Given the description of an element on the screen output the (x, y) to click on. 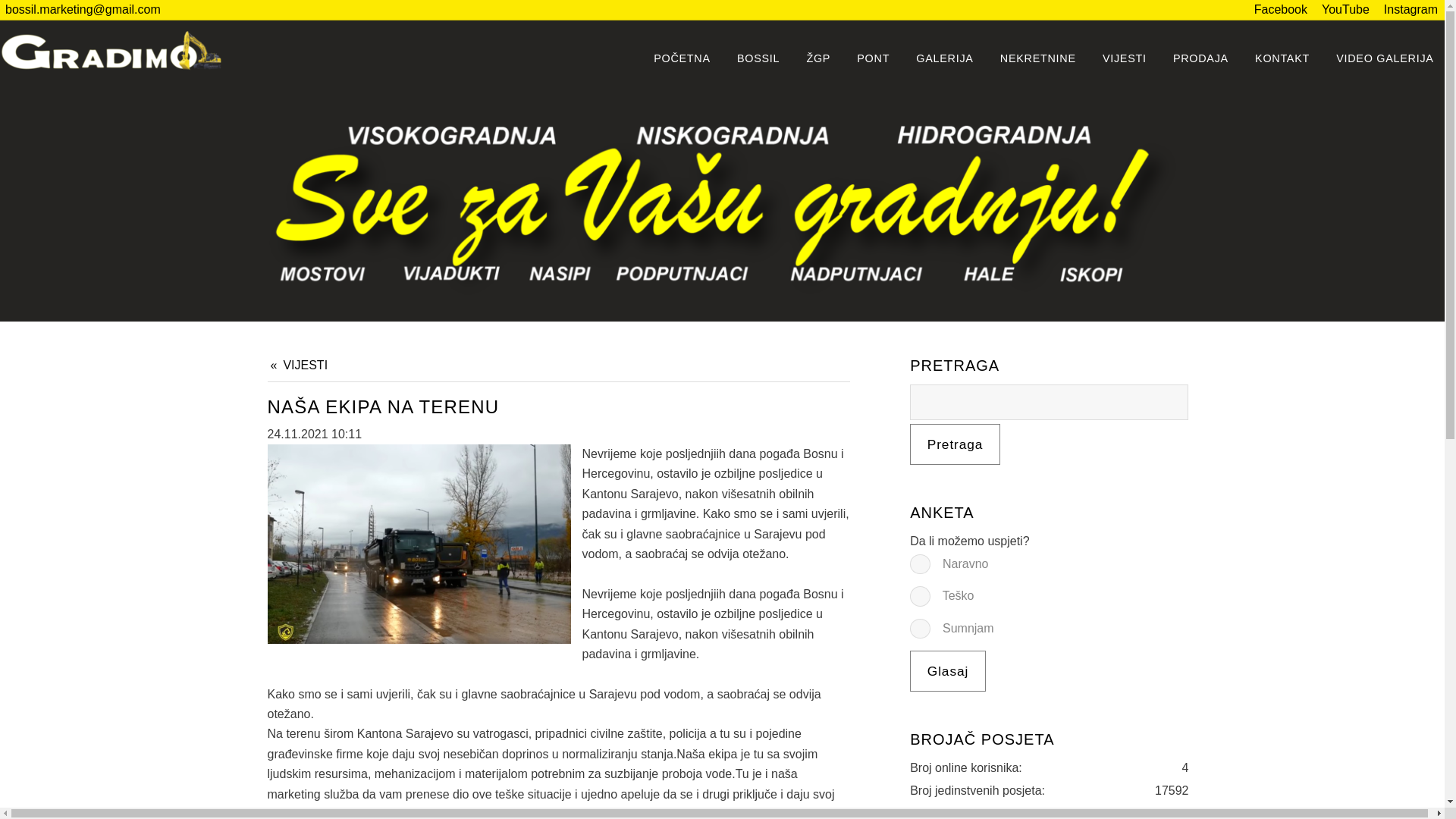
PONT Element type: text (873, 58)
PRODAJA Element type: text (1200, 58)
GALERIJA Element type: text (944, 58)
Facebook Element type: text (1279, 9)
Instagram Element type: text (1409, 9)
KONTAKT Element type: text (1282, 58)
bossil.marketing@gmail.com Element type: text (82, 9)
VIJESTI Element type: text (298, 365)
YouTube Element type: text (1344, 9)
VIDEO GALERIJA Element type: text (1384, 58)
VIJESTI Element type: text (1124, 58)
BOSSIL Element type: text (758, 58)
NEKRETNINE Element type: text (1037, 58)
Pretraga Element type: text (955, 443)
Glasaj Element type: text (947, 670)
